Given the description of an element on the screen output the (x, y) to click on. 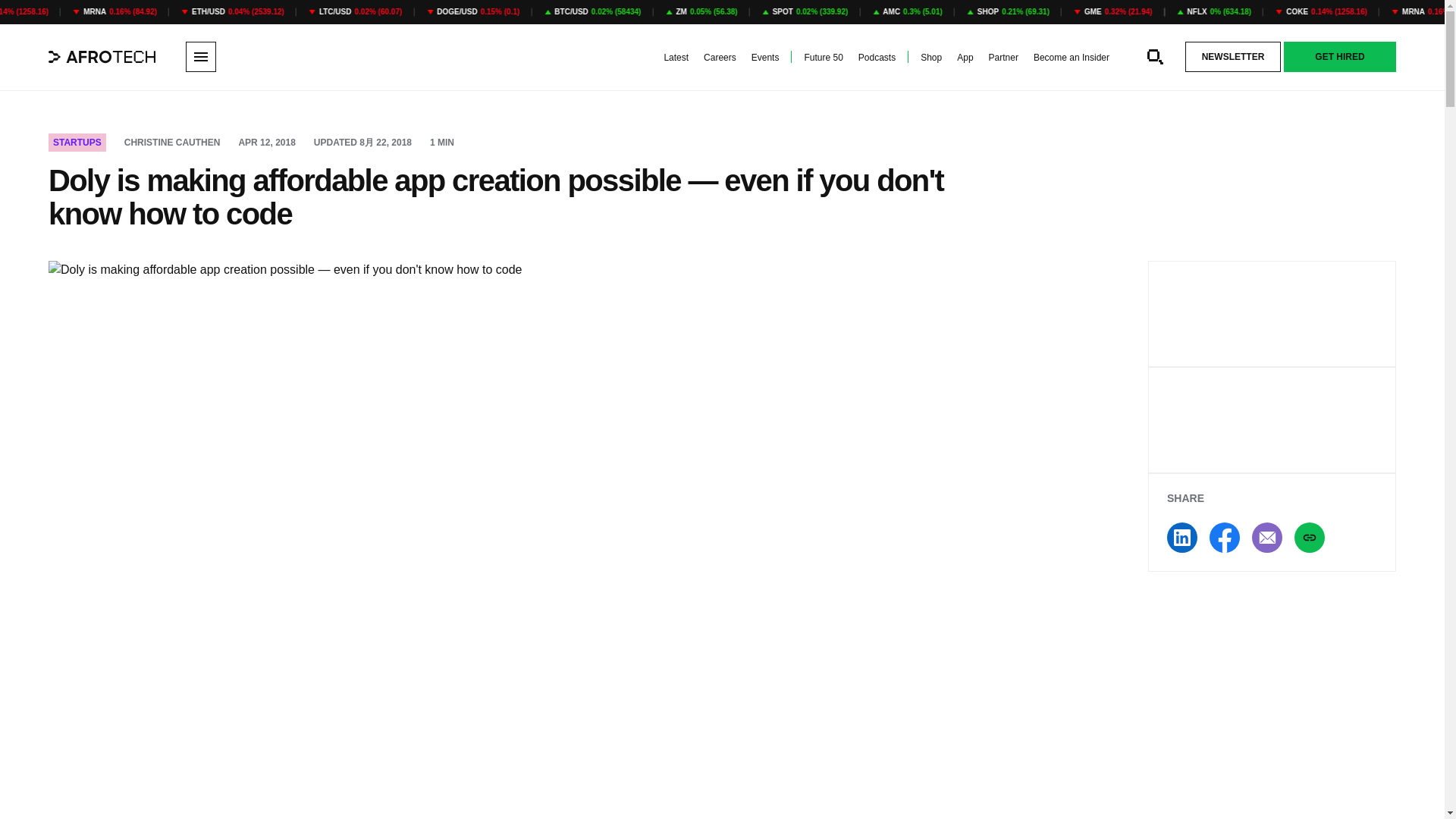
Future 50 (823, 57)
NEWSLETTER (1233, 56)
CHRISTINE CAUTHEN (172, 142)
Careers (719, 57)
Podcasts (877, 57)
GET HIRED (1340, 56)
Latest (675, 57)
STARTUPS (77, 142)
Events (764, 57)
Become an Insider (1071, 57)
